Given the description of an element on the screen output the (x, y) to click on. 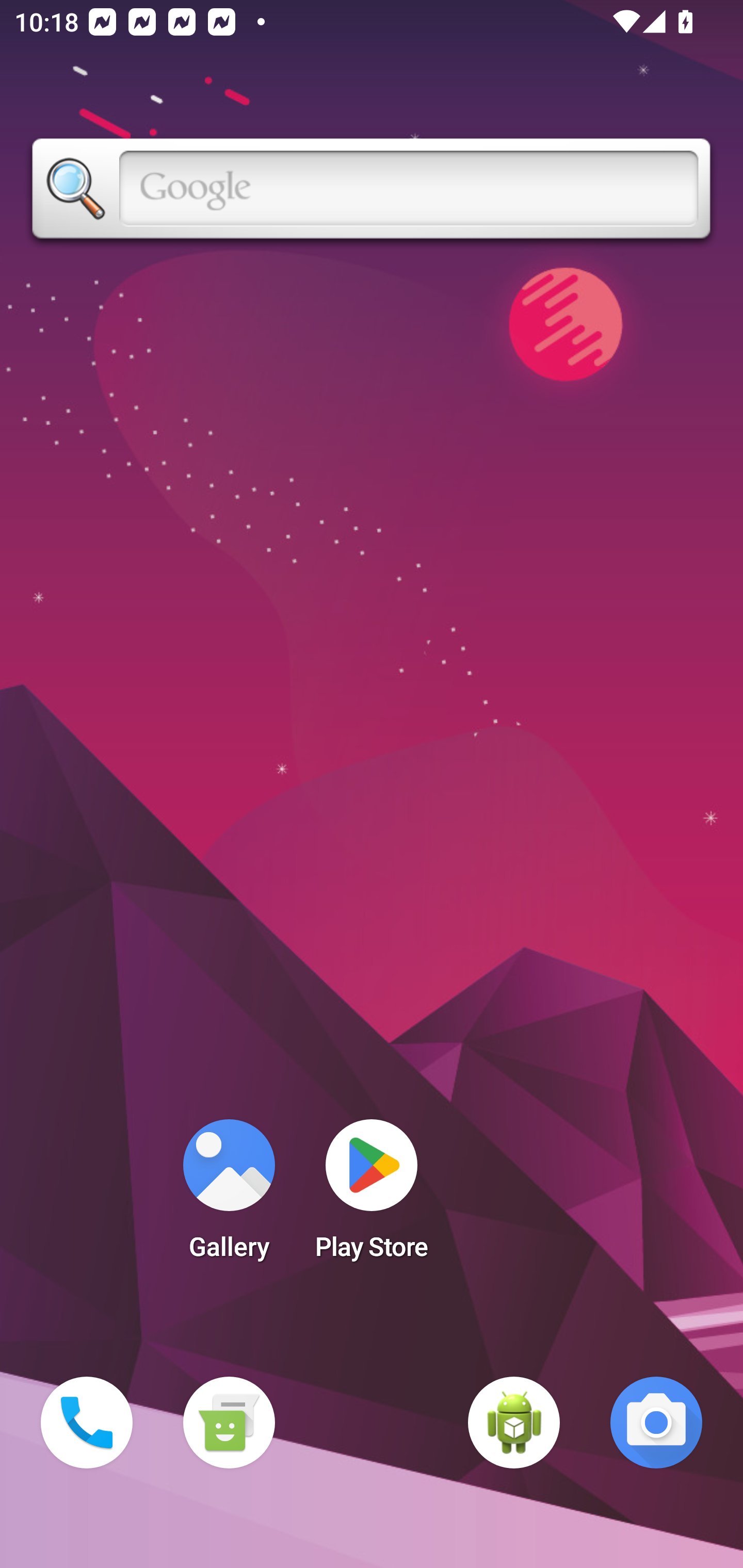
Gallery (228, 1195)
Play Store (371, 1195)
Phone (86, 1422)
Messaging (228, 1422)
WebView Browser Tester (513, 1422)
Camera (656, 1422)
